Given the description of an element on the screen output the (x, y) to click on. 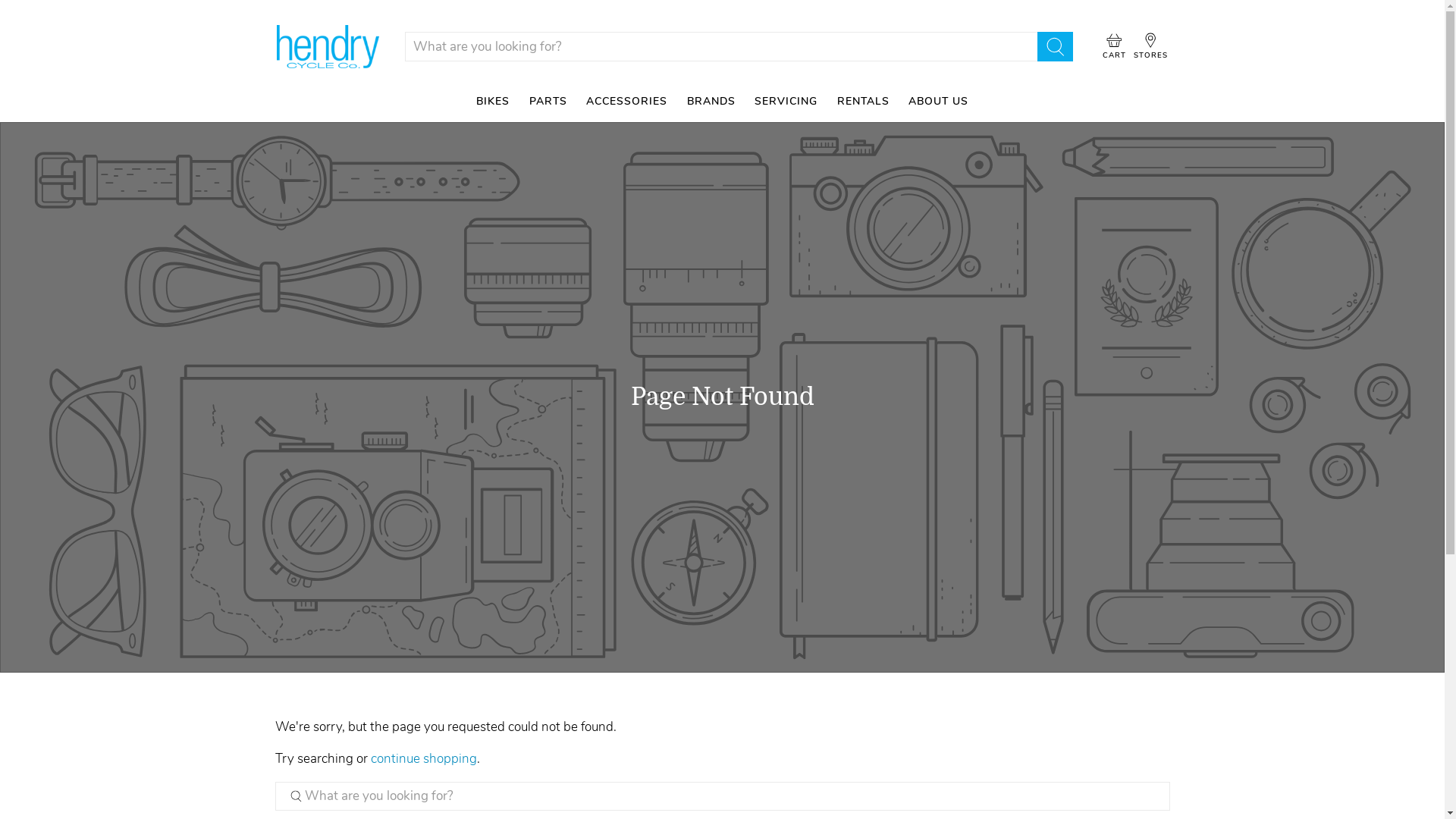
SERVICING Element type: text (785, 101)
ACCESSORIES Element type: text (626, 101)
CART Element type: text (1114, 45)
STORES Element type: text (1150, 45)
RENTALS Element type: text (863, 101)
continue shopping Element type: text (423, 758)
ABOUT US Element type: text (938, 101)
BRANDS Element type: text (711, 101)
PARTS Element type: text (548, 101)
BIKES Element type: text (492, 101)
hendry cycles Element type: hover (327, 46)
